Given the description of an element on the screen output the (x, y) to click on. 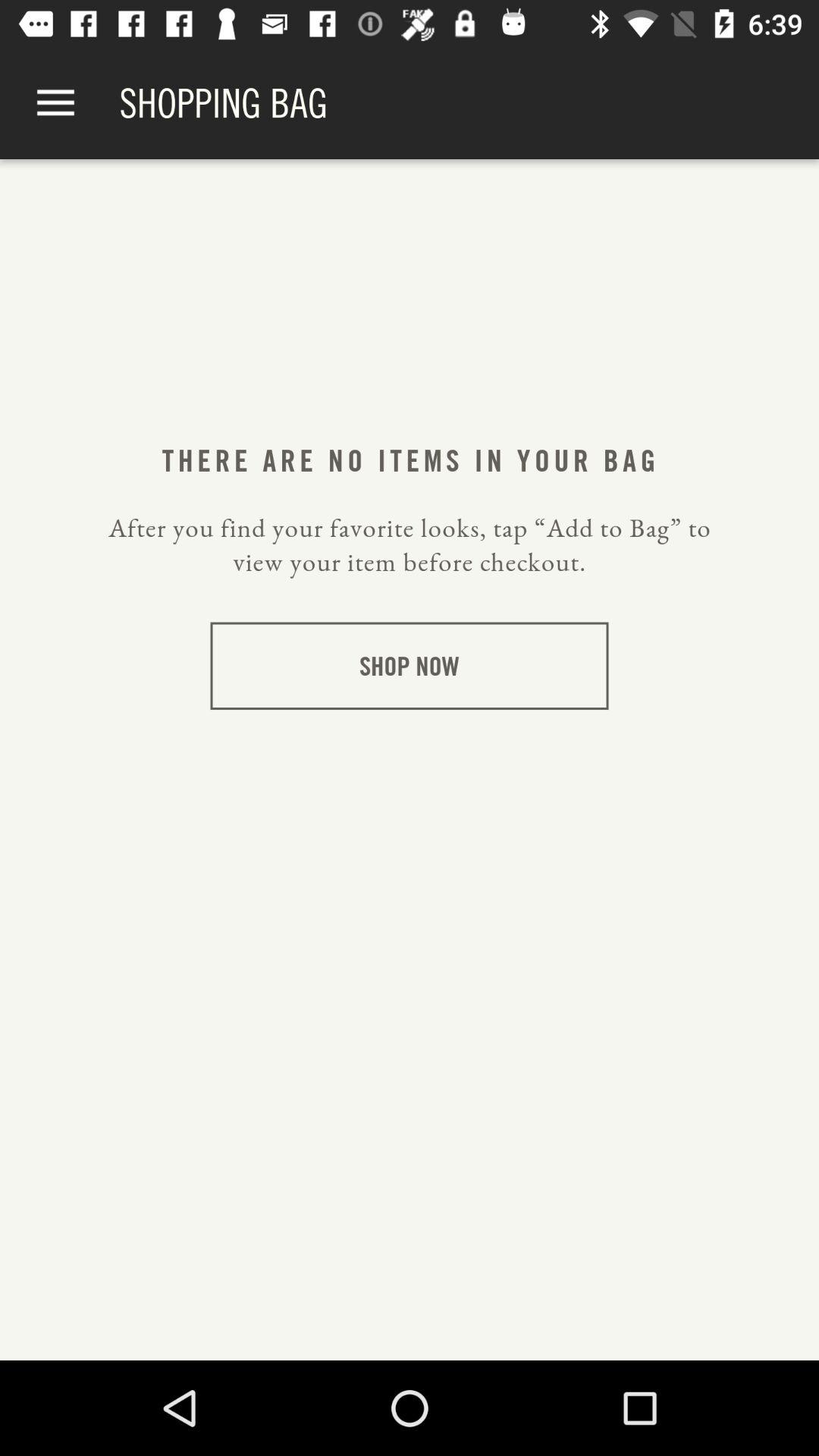
select after you find item (409, 544)
